Given the description of an element on the screen output the (x, y) to click on. 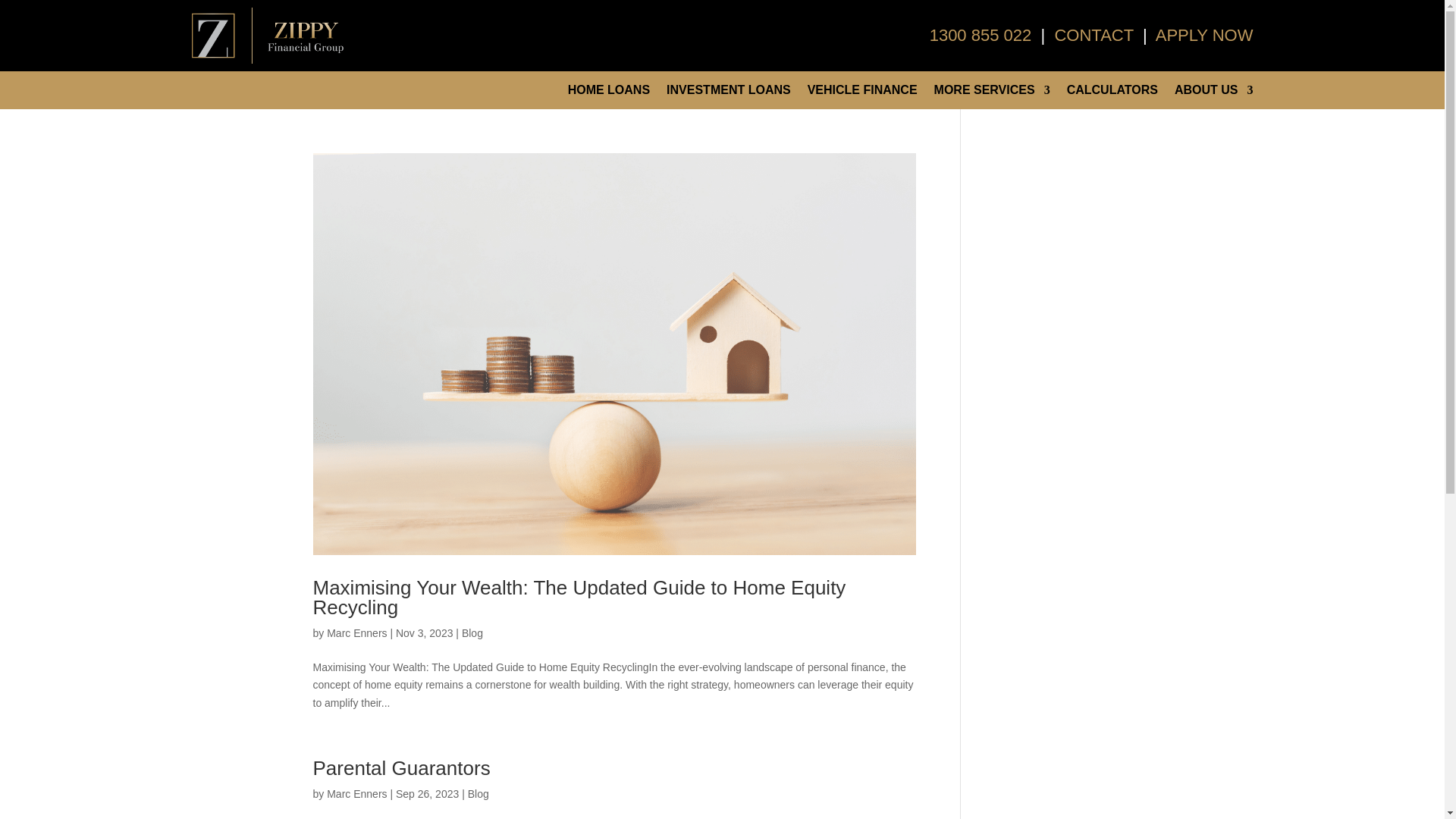
CONTACT  (1095, 35)
VEHICLE FINANCE (862, 93)
1300 855 022  (983, 35)
APPLY NOW (1204, 35)
CALCULATORS (1112, 93)
MORE SERVICES (991, 93)
Posts by Marc Enners (356, 793)
Posts by Marc Enners (356, 633)
ABOUT US (1213, 93)
INVESTMENT LOANS (728, 93)
